Given the description of an element on the screen output the (x, y) to click on. 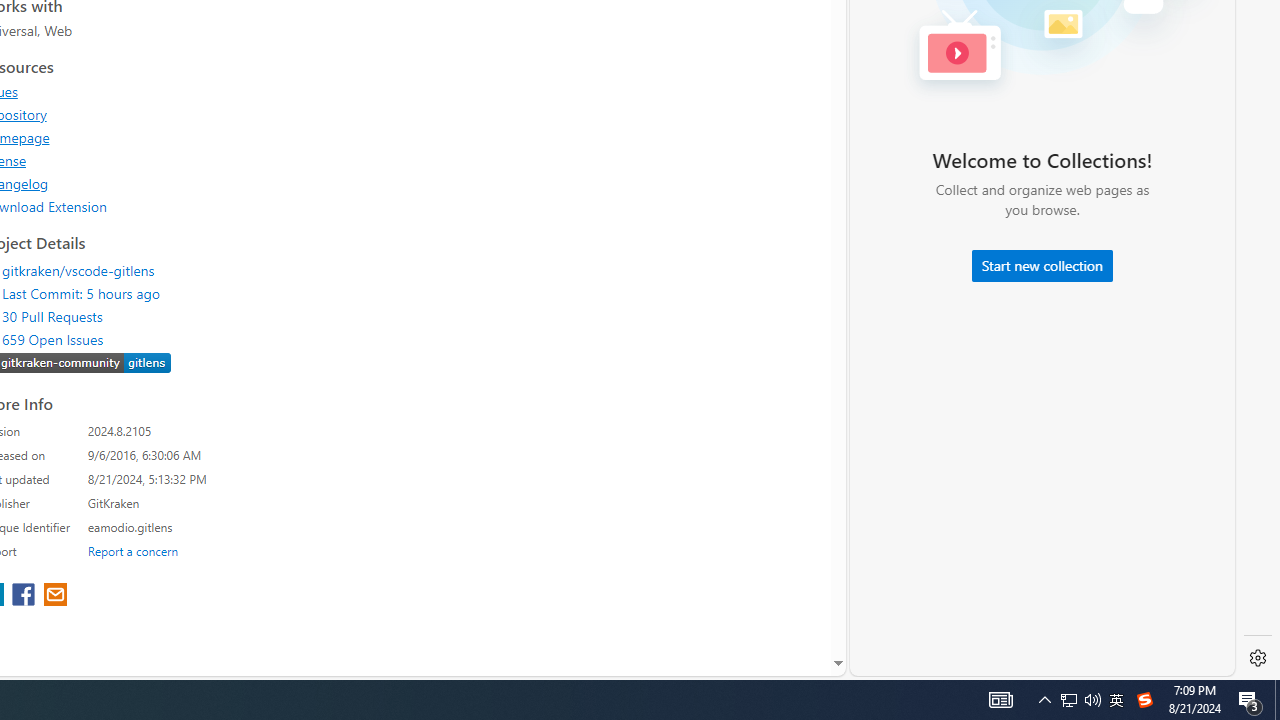
share extension on email (54, 596)
share extension on facebook (26, 596)
Start new collection (1042, 265)
Report a concern (133, 550)
